Given the description of an element on the screen output the (x, y) to click on. 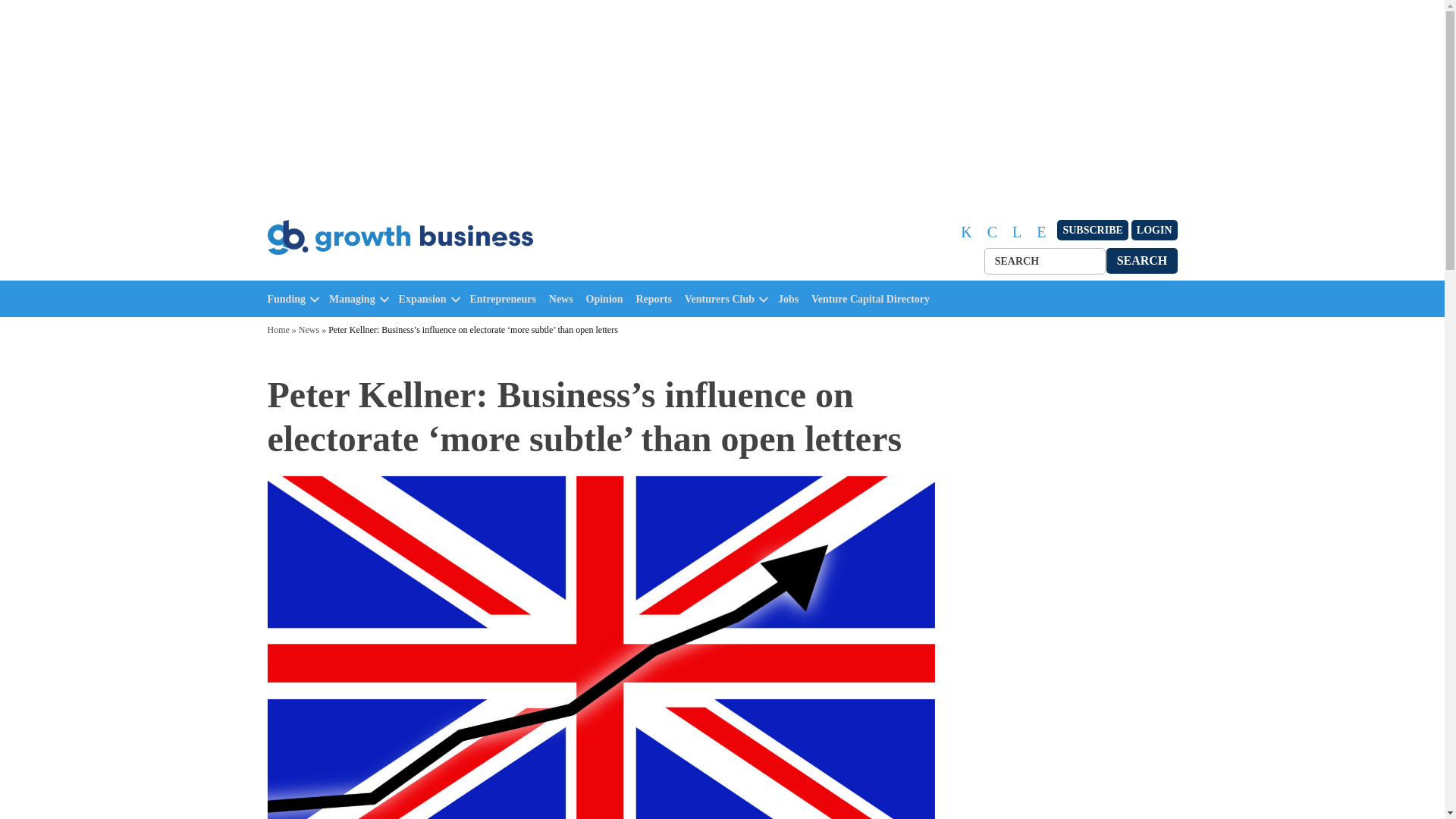
Reports (656, 298)
Managing (352, 298)
Growth Business (332, 271)
LOGIN (1154, 230)
SUBSCRIBE (1091, 230)
SEARCH (1142, 260)
Expansion (422, 298)
Funding (285, 298)
Opinion (608, 298)
Entrepreneurs (506, 298)
